Given the description of an element on the screen output the (x, y) to click on. 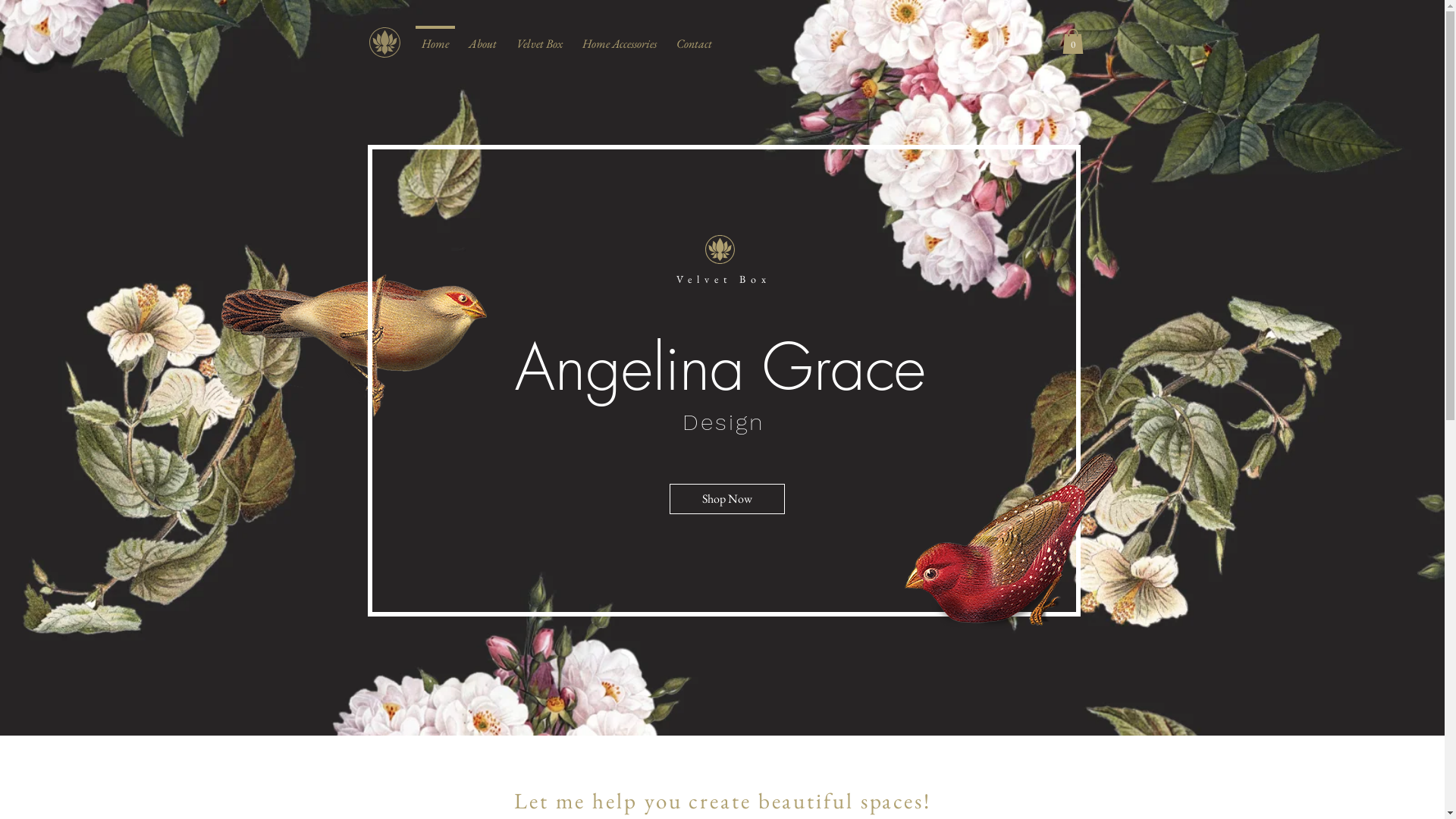
0 Element type: text (1071, 40)
Shop Now Element type: text (726, 498)
Home Element type: text (434, 36)
Contact Element type: text (693, 36)
About Element type: text (481, 36)
Home Accessories Element type: text (618, 36)
Velvet Box Element type: text (539, 36)
